Given the description of an element on the screen output the (x, y) to click on. 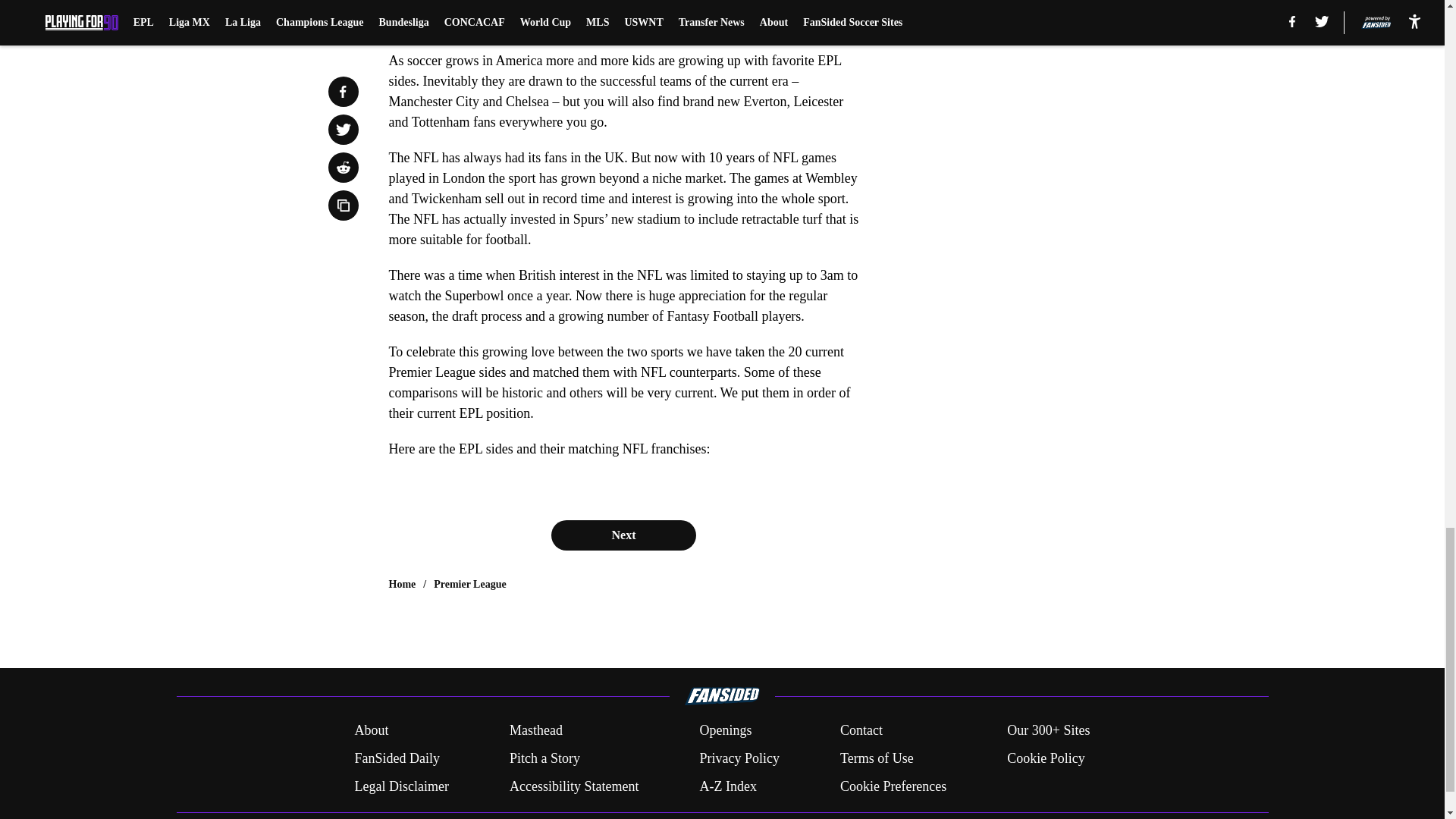
FanSided Daily (396, 758)
Home (401, 584)
Premier League (469, 584)
Contact (861, 730)
About (370, 730)
Openings (724, 730)
Privacy Policy (738, 758)
Next (622, 535)
Terms of Use (877, 758)
Pitch a Story (544, 758)
Masthead (535, 730)
